Given the description of an element on the screen output the (x, y) to click on. 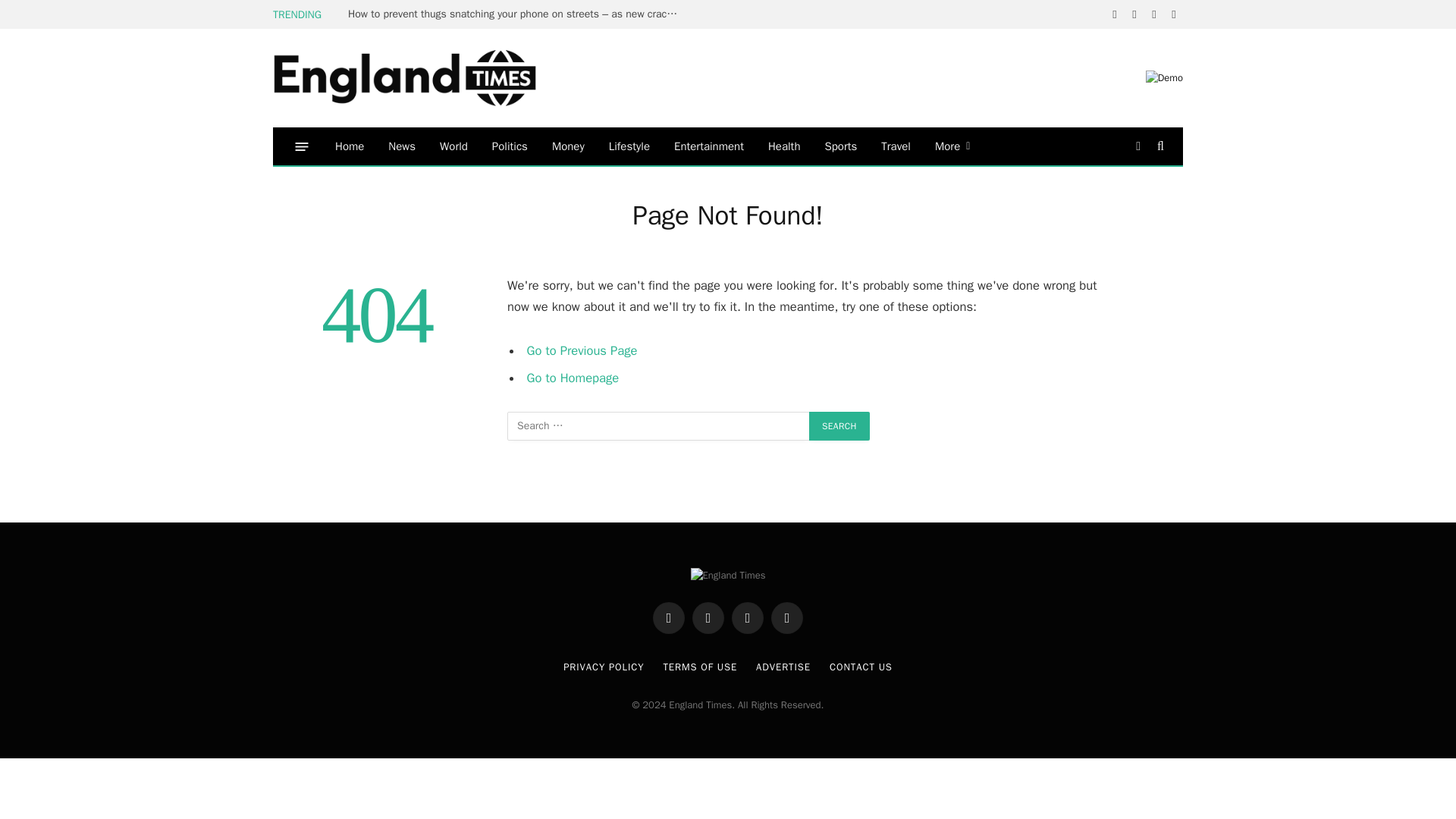
Search (839, 425)
England Times (428, 78)
Search (839, 425)
Switch to Dark Design - easier on eyes. (1138, 146)
